Given the description of an element on the screen output the (x, y) to click on. 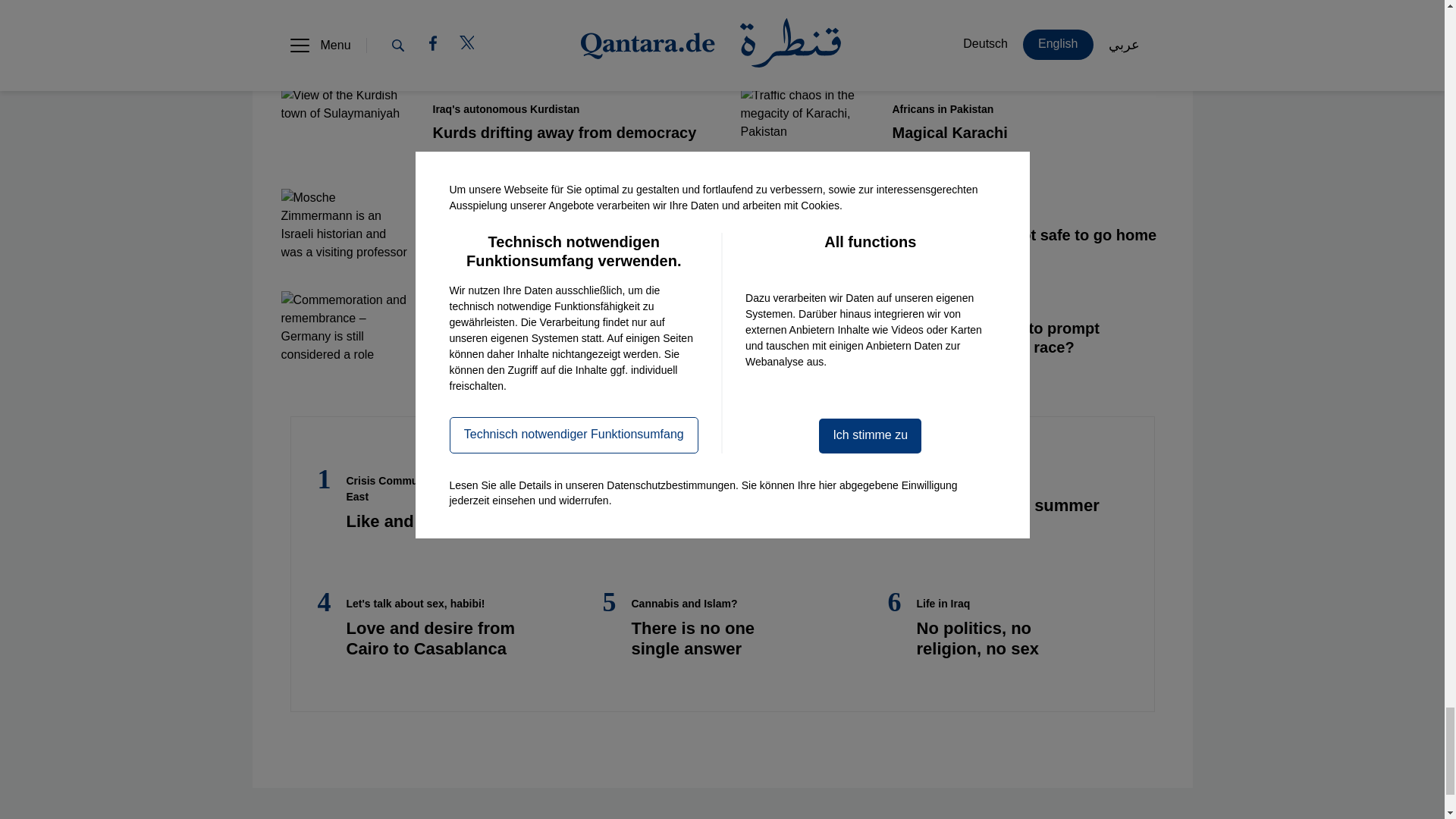
Traffic chaos in the megacity of Karachi, Pakistan (804, 122)
View of the Kurdish town of Sulaymaniyah (345, 122)
